Given the description of an element on the screen output the (x, y) to click on. 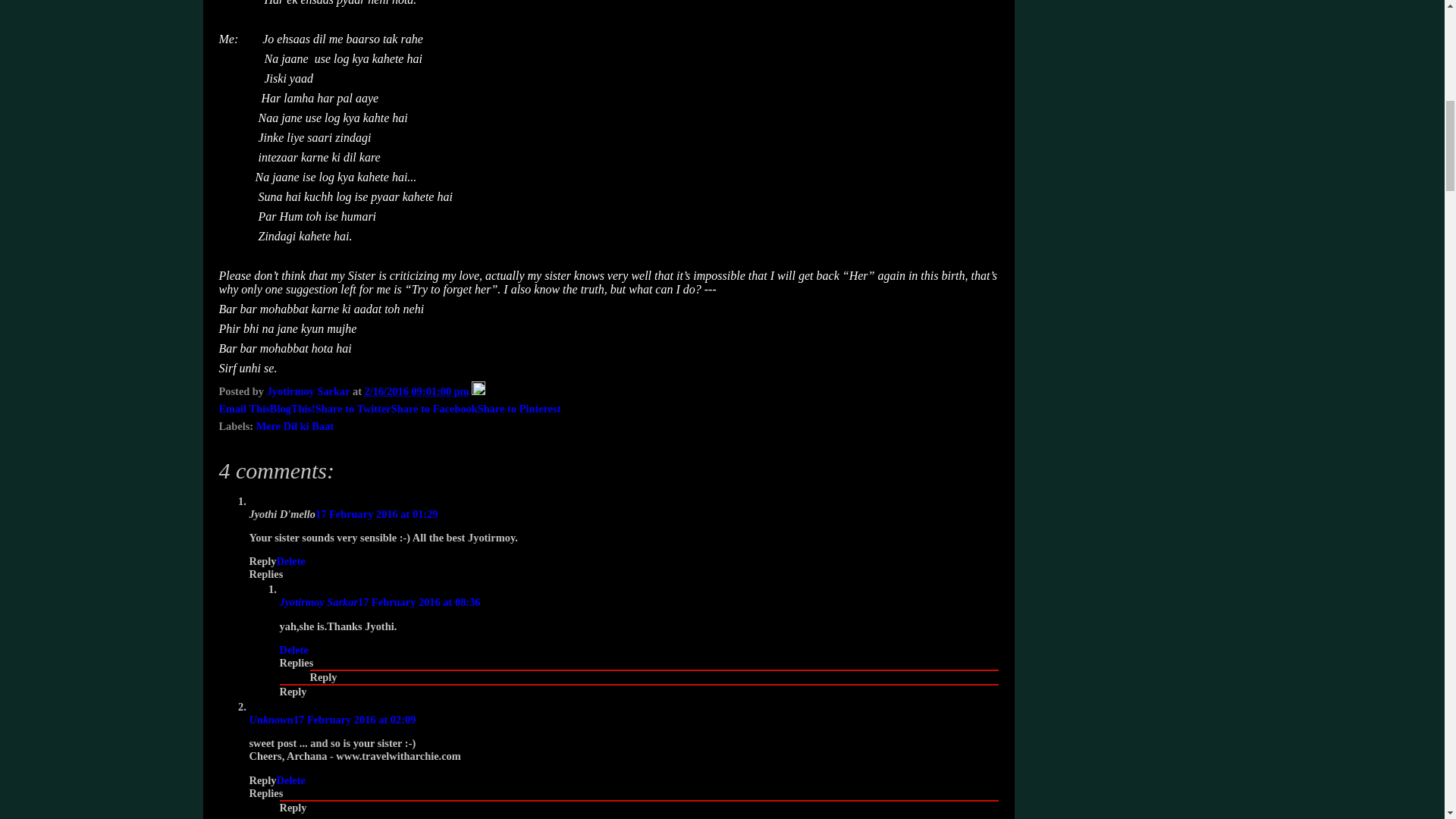
Delete (293, 649)
Reply (322, 676)
Reply (292, 807)
Share to Facebook (434, 408)
Share to Pinterest (518, 408)
17 February 2016 at 01:29 (376, 513)
Jyotirmoy Sarkar (318, 602)
Replies (265, 573)
Delete (290, 779)
Edit Post (477, 390)
Reply (262, 561)
Share to Twitter (353, 408)
Reply (292, 691)
Mere Dil ki Baat (294, 426)
Jyotirmoy Sarkar (309, 390)
